Given the description of an element on the screen output the (x, y) to click on. 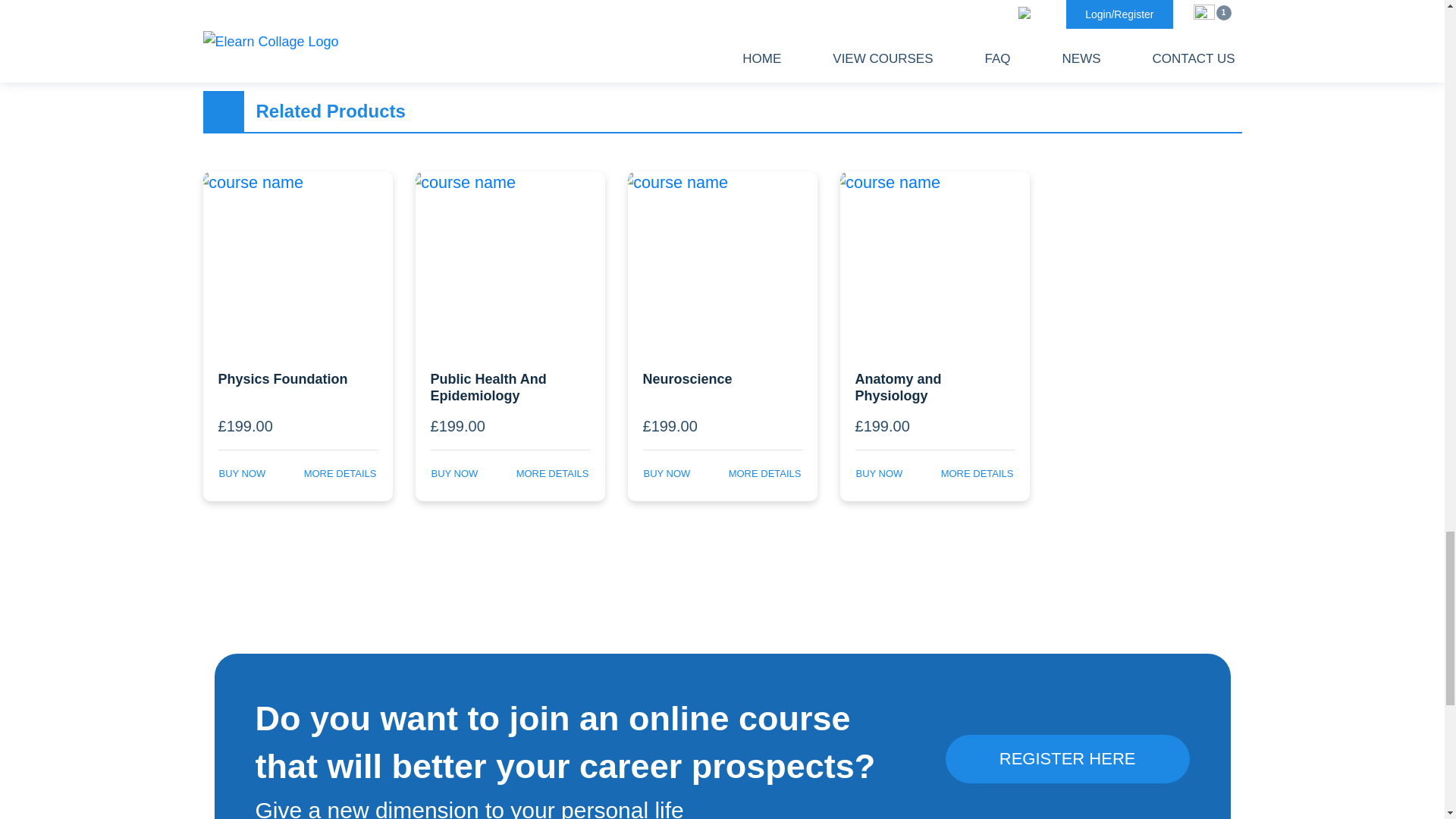
Public Health And Epidemiology (509, 385)
Anatomy and Physiology (934, 385)
Neuroscience (721, 385)
Physics Foundation (298, 385)
